Given the description of an element on the screen output the (x, y) to click on. 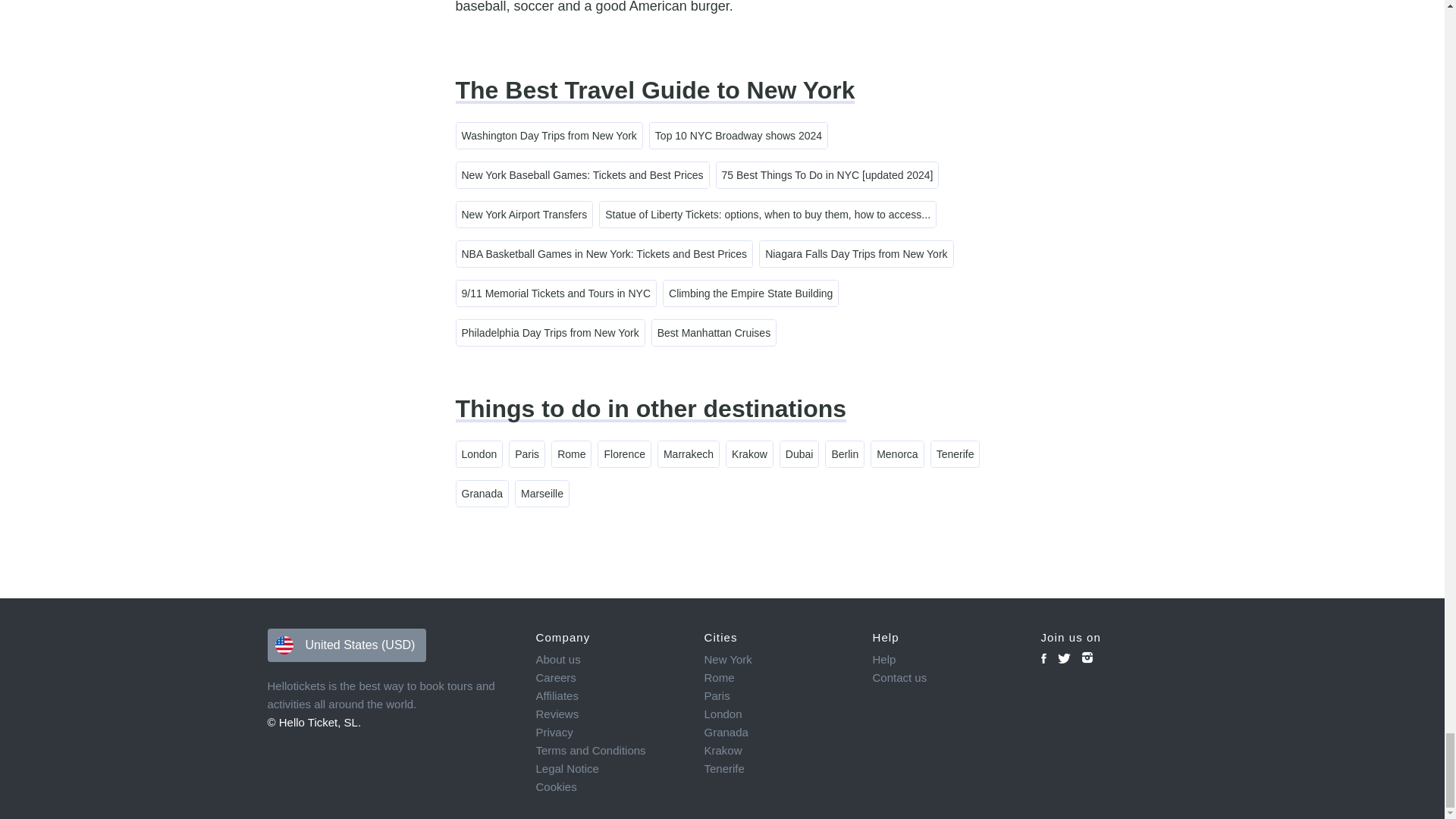
New York Airport Transfers (524, 214)
Washington Day Trips from New York (549, 135)
Top 10 NYC Broadway shows 2024 (738, 135)
NBA Basketball Games in New York: Tickets and Best Prices (604, 253)
The Best Travel Guide to New York (654, 90)
New York Baseball Games: Tickets and Best Prices (583, 175)
Niagara Falls Day Trips from New York (856, 253)
